Given the description of an element on the screen output the (x, y) to click on. 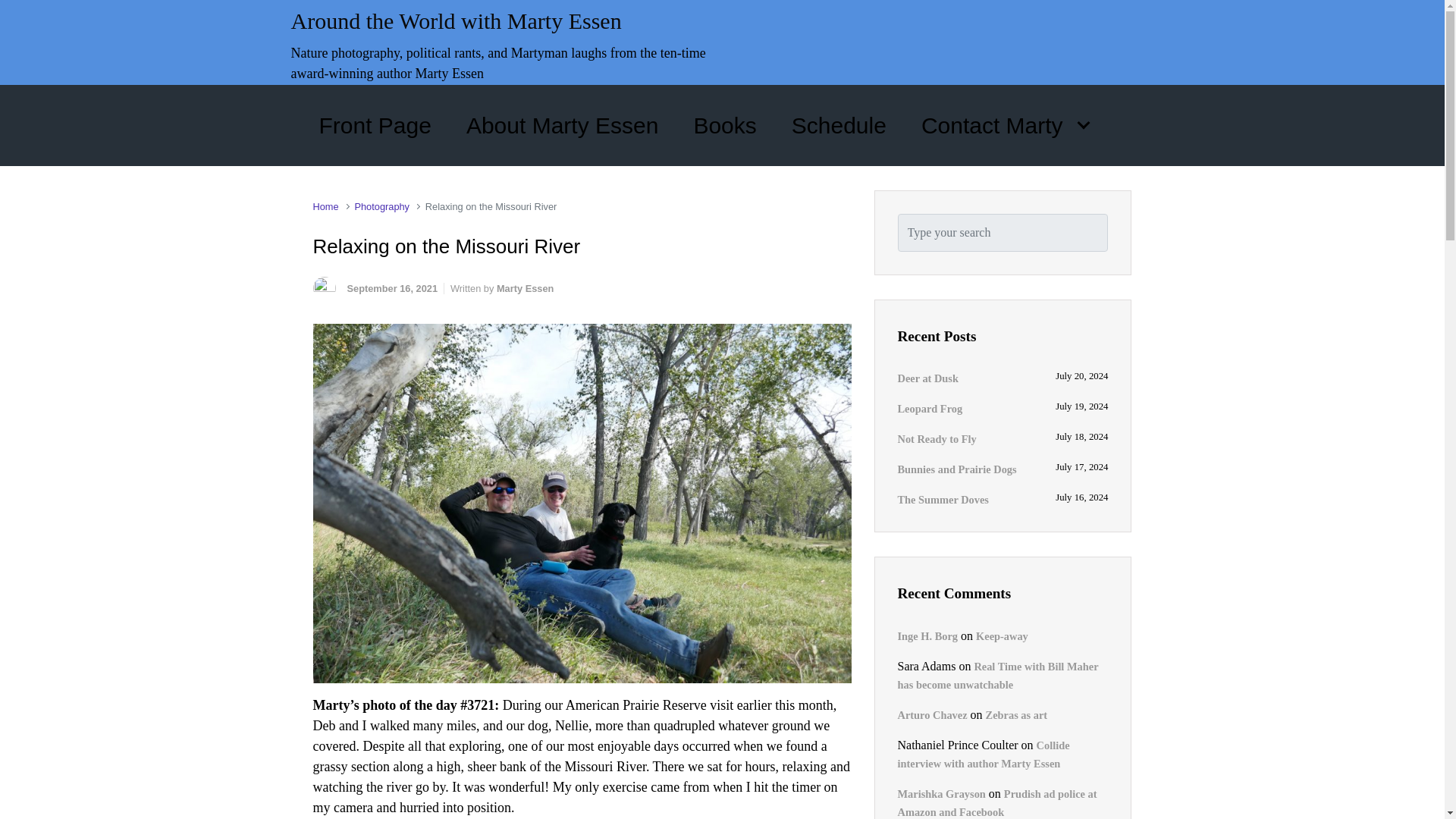
Photography (381, 206)
Skip to main content (18, 10)
About Marty Essen (561, 124)
Front Page (374, 124)
Not Ready to Fly (937, 438)
Books (724, 124)
Around the World with Marty Essen (456, 20)
Marty Essen (524, 288)
View all posts by Marty Essen (524, 288)
Photography (381, 206)
Home (325, 206)
Bunnies and Prairie Dogs (957, 468)
Leopard Frog (930, 408)
Deer at Dusk (928, 378)
Contact Marty (1004, 124)
